Given the description of an element on the screen output the (x, y) to click on. 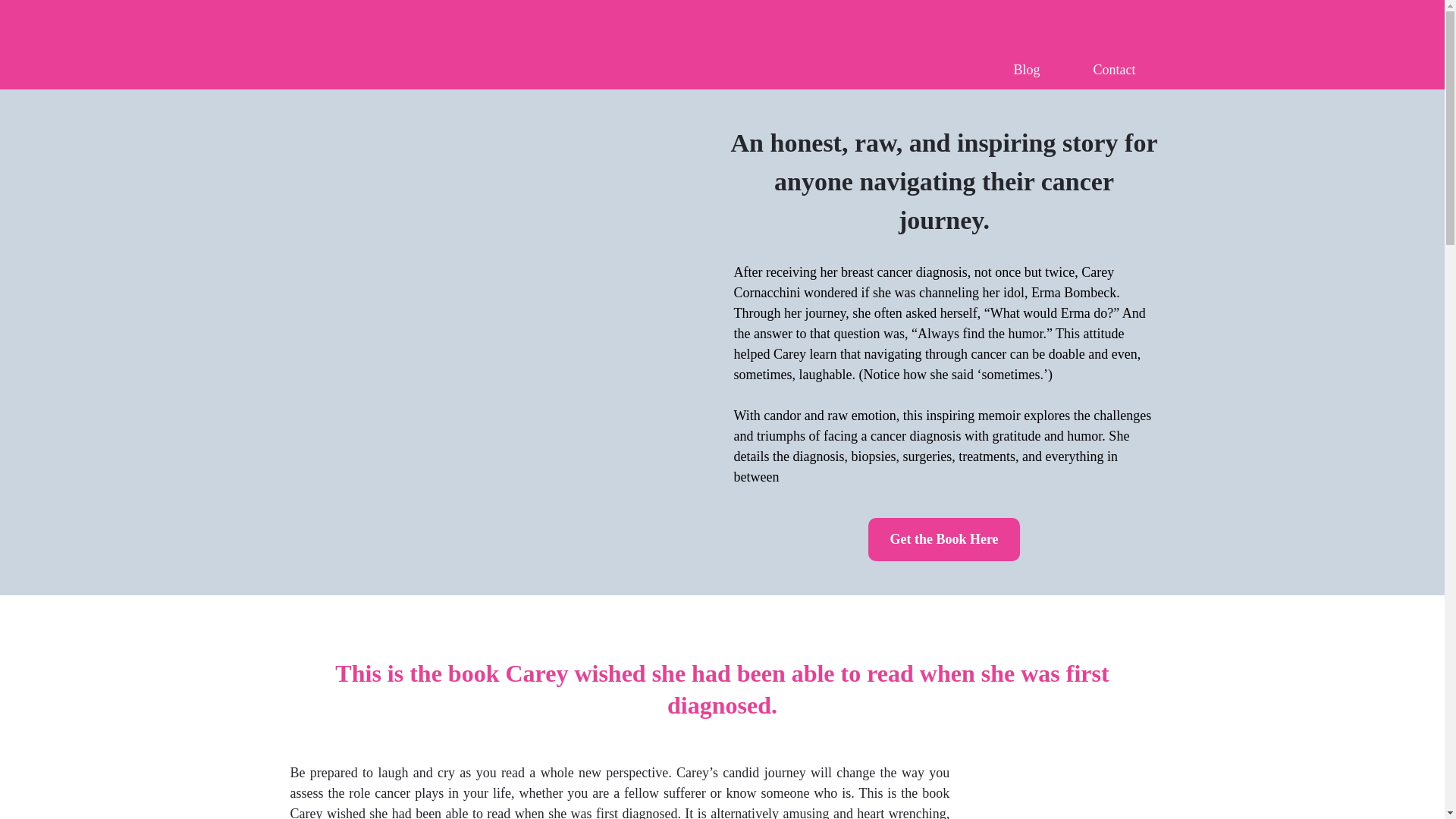
Contact (1113, 69)
Get the Book Here (943, 539)
Blog (1026, 69)
